Given the description of an element on the screen output the (x, y) to click on. 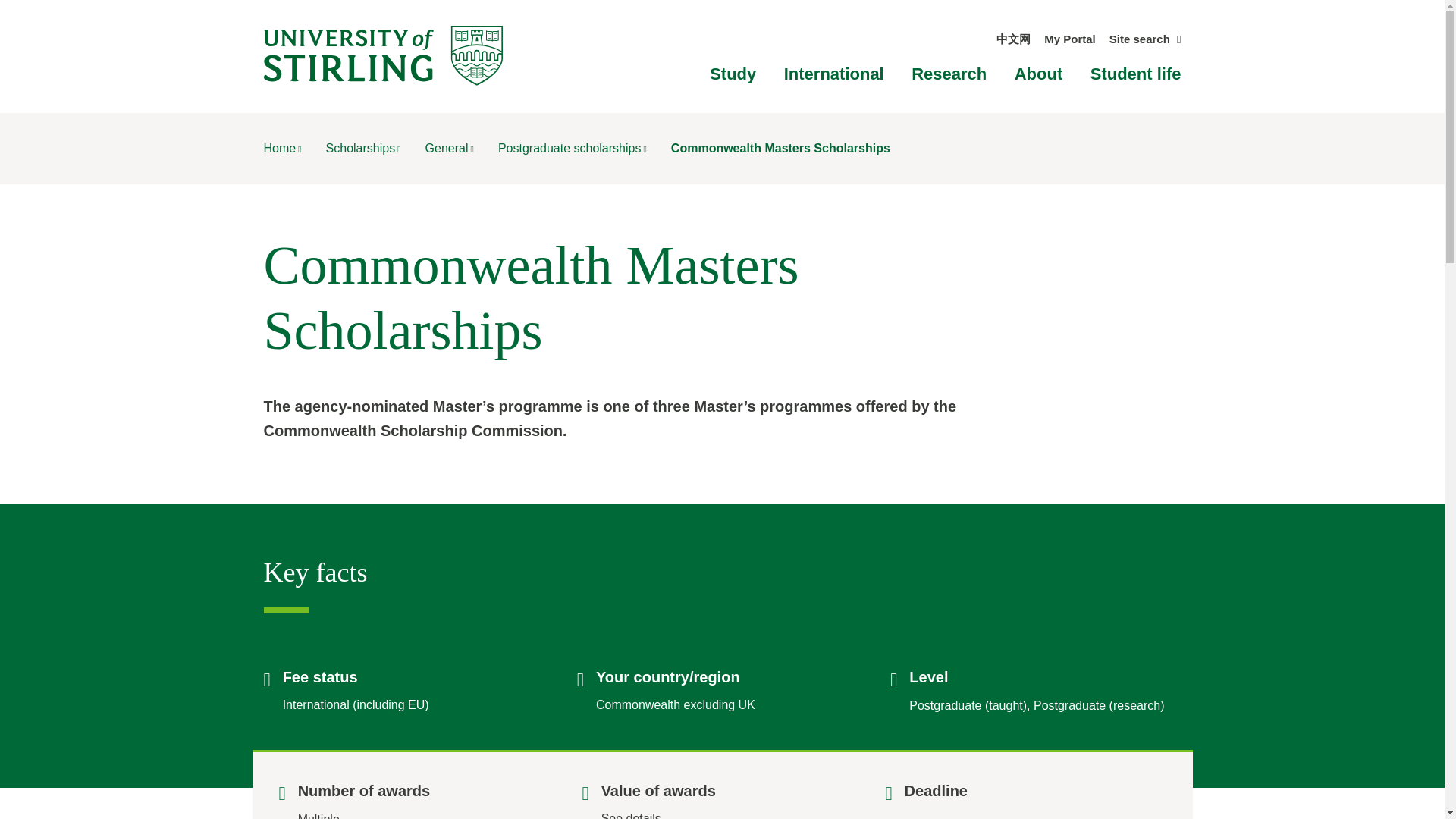
Study (732, 73)
Student life (1135, 73)
home page (282, 147)
University of Stirling (382, 54)
Home (282, 147)
Site search (1144, 38)
Scholarships (363, 147)
My Portal (1069, 38)
Research (949, 73)
General (449, 147)
